Given the description of an element on the screen output the (x, y) to click on. 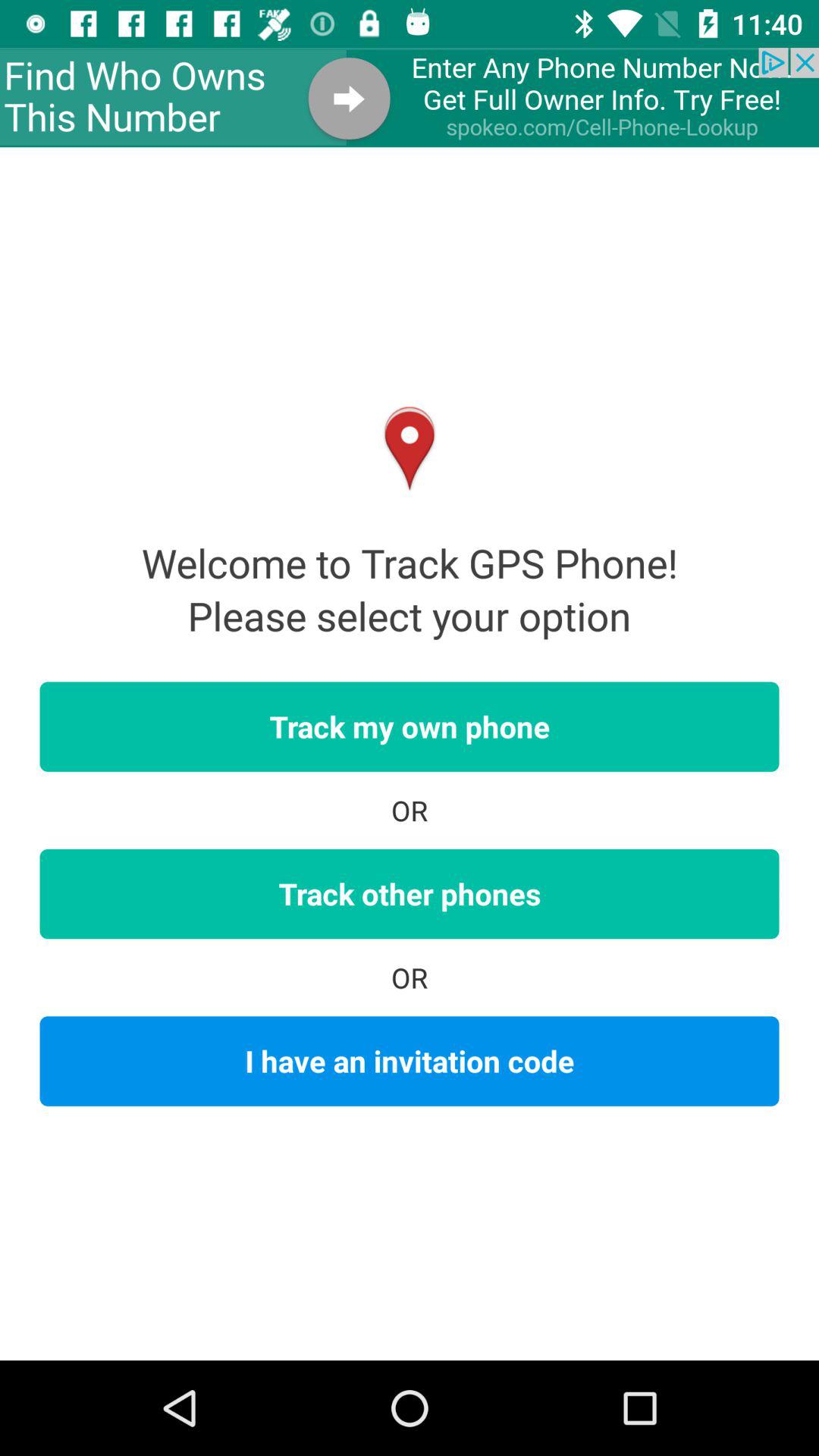
spokeo.com advertisement (409, 97)
